Given the description of an element on the screen output the (x, y) to click on. 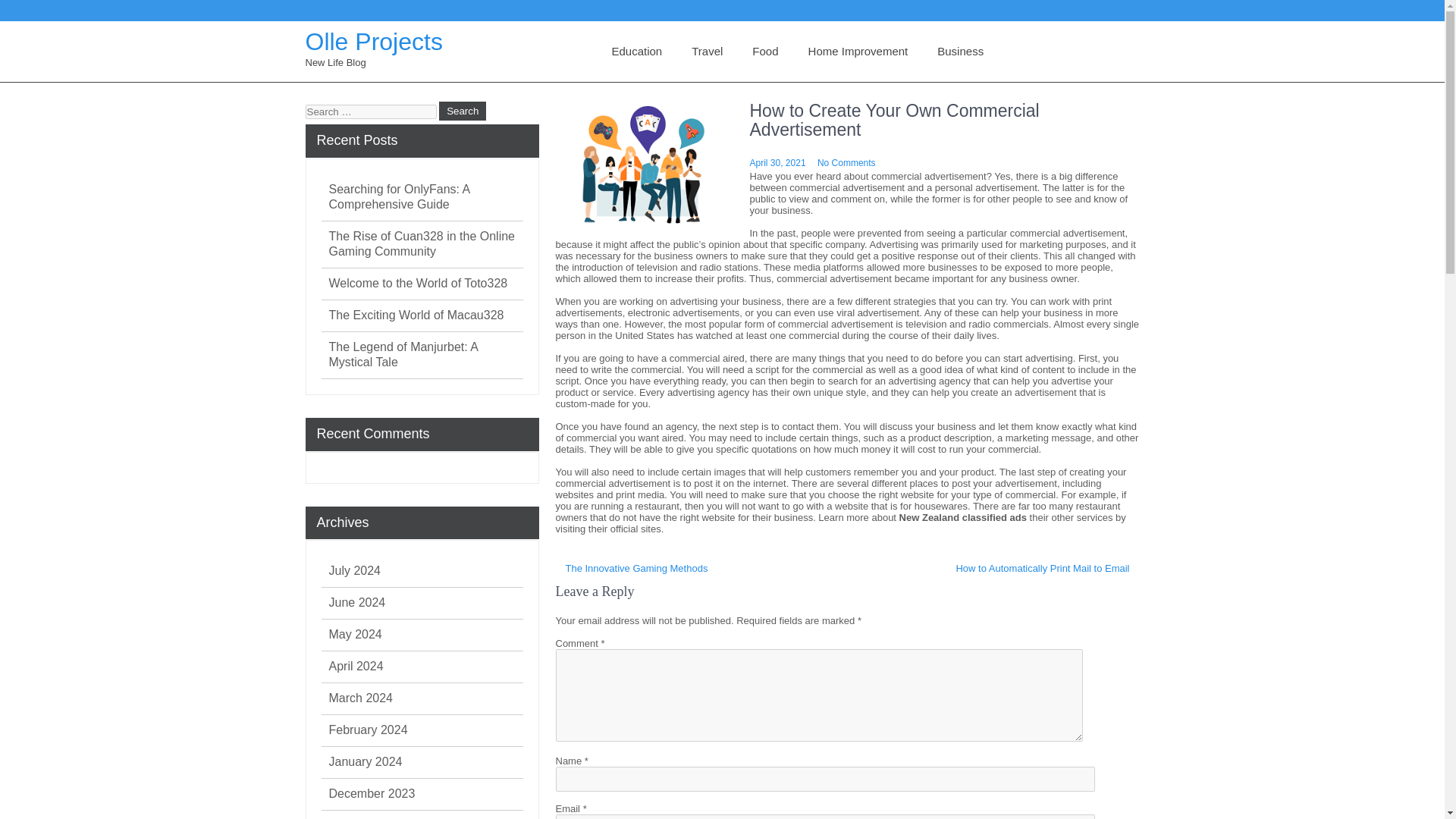
March 2024 (361, 698)
July 2024 (355, 570)
Welcome to the World of Toto328 (418, 283)
The Legend of Manjurbet: A Mystical Tale (425, 354)
Business (959, 51)
April 2024 (356, 666)
December 2023 (371, 793)
How to Automatically Print Mail to Email (1041, 568)
The Exciting World of Macau328 (416, 314)
Search (462, 110)
February 2024 (368, 729)
Education (636, 51)
Search (462, 110)
Home Improvement (858, 51)
